Given the description of an element on the screen output the (x, y) to click on. 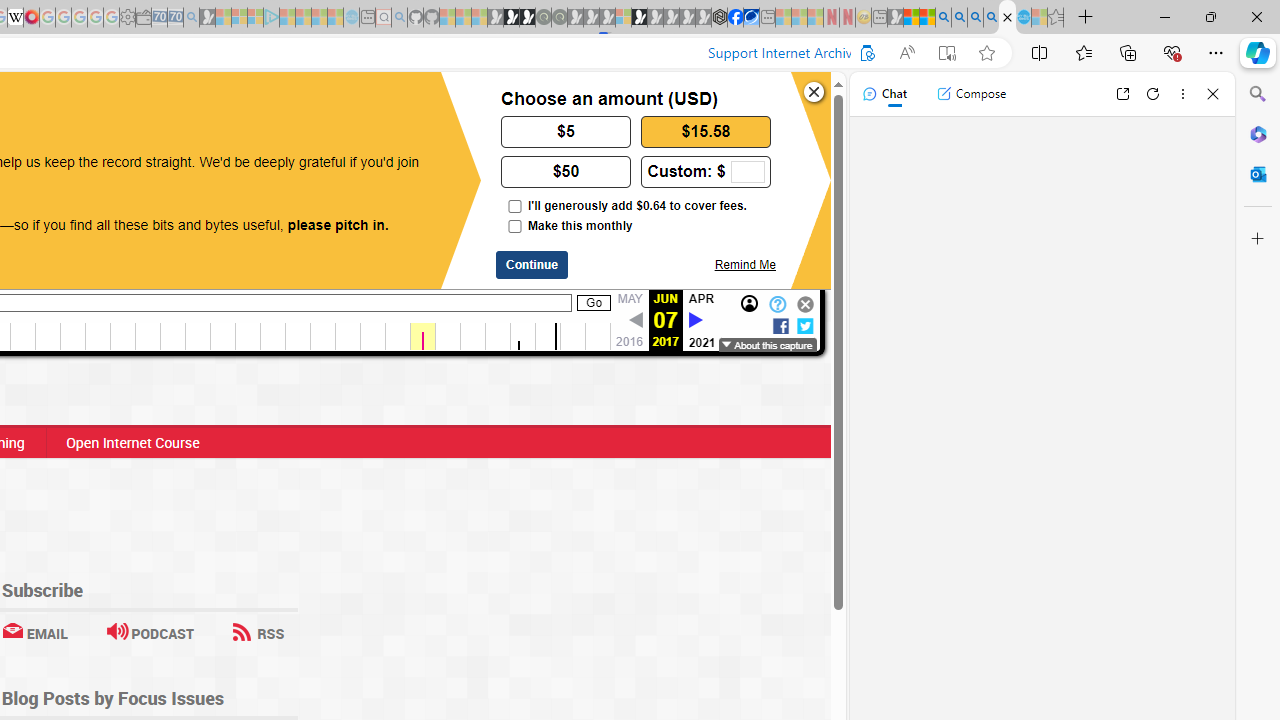
Support Internet Archive? (862, 53)
Continue (532, 265)
AutomationID: custom-amount-input (747, 171)
MediaWiki (31, 17)
